Given the description of an element on the screen output the (x, y) to click on. 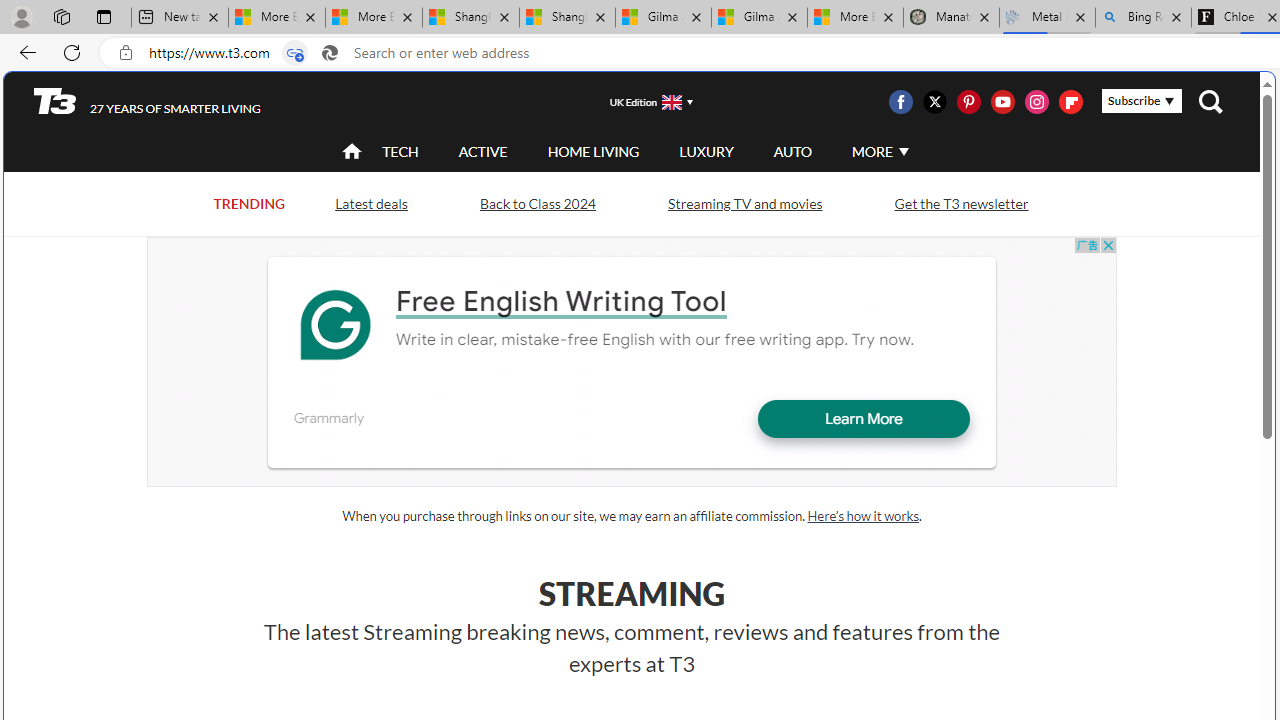
AUTO (792, 151)
home (352, 152)
LUXURY (705, 151)
Get the T3 newsletter (960, 204)
HOME LIVING (593, 151)
Subscribe (1141, 101)
MORE  (878, 151)
